Given the description of an element on the screen output the (x, y) to click on. 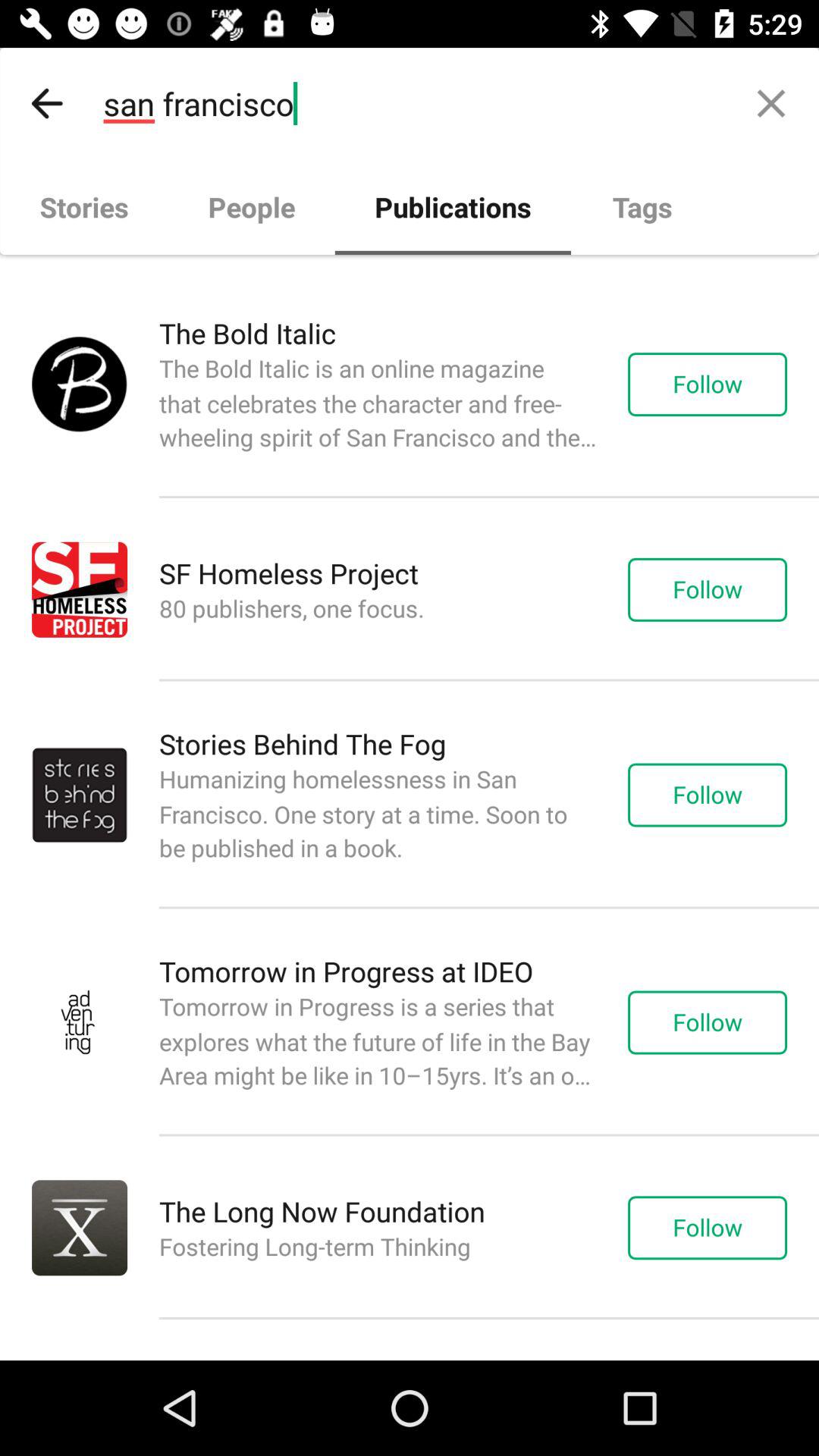
open the item above follow item (771, 103)
